Given the description of an element on the screen output the (x, y) to click on. 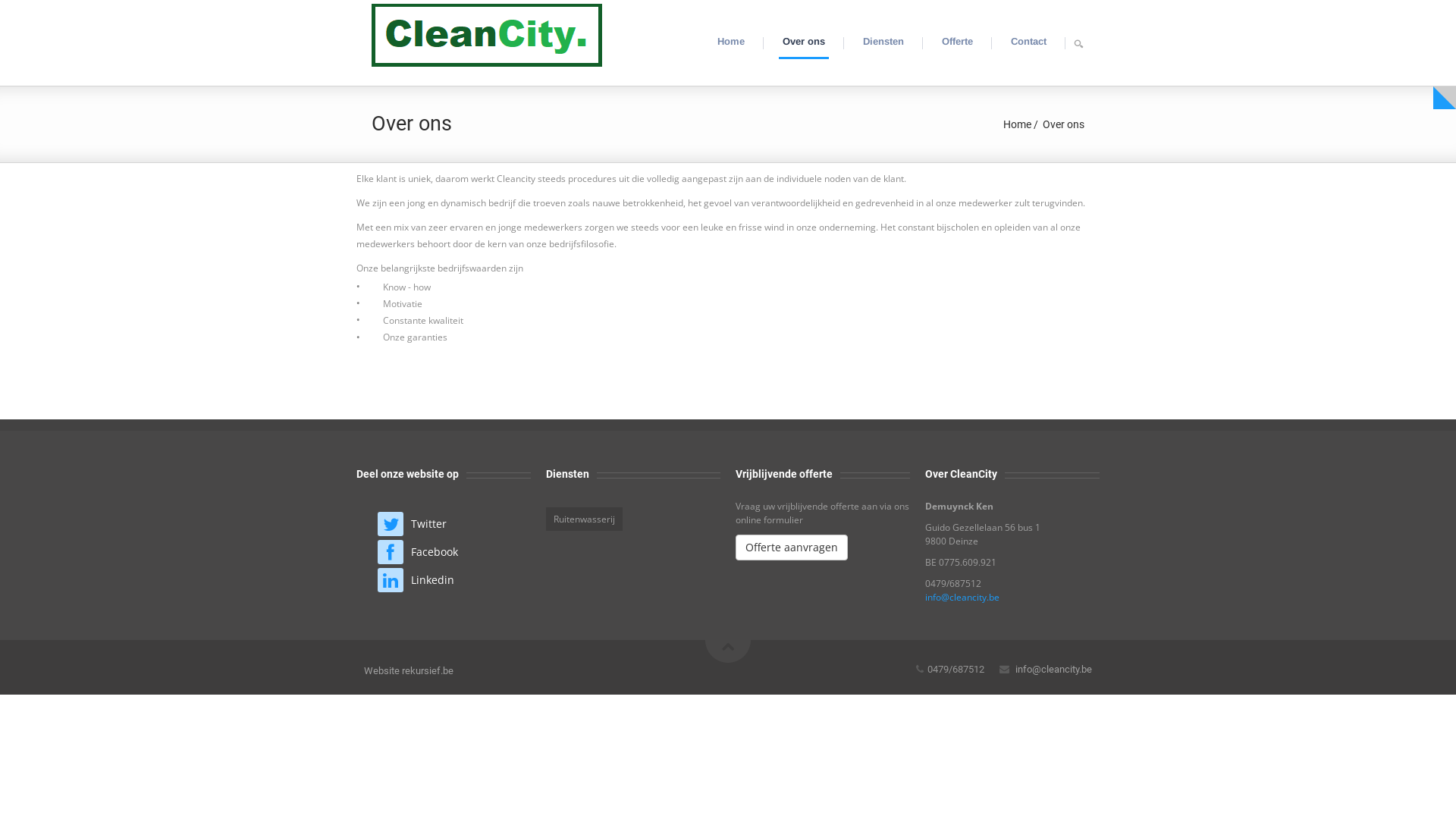
info@cleancity.be Element type: text (962, 596)
Offerte Element type: text (957, 42)
info@cleancity.be Element type: text (1053, 668)
Home Element type: text (730, 42)
Overslaan en naar de inhoud gaan Element type: text (88, 0)
rekursief.be Element type: text (427, 670)
Offerte aanvragen Element type: text (791, 547)
Home Element type: hover (486, 33)
Over ons Element type: text (803, 42)
Twitter Element type: text (428, 523)
Contact Element type: text (1028, 42)
Linkedin Element type: text (432, 579)
Home Element type: text (1017, 124)
Facebook Element type: text (434, 551)
Ruitenwasserij Element type: text (584, 518)
Diensten Element type: text (883, 42)
